Given the description of an element on the screen output the (x, y) to click on. 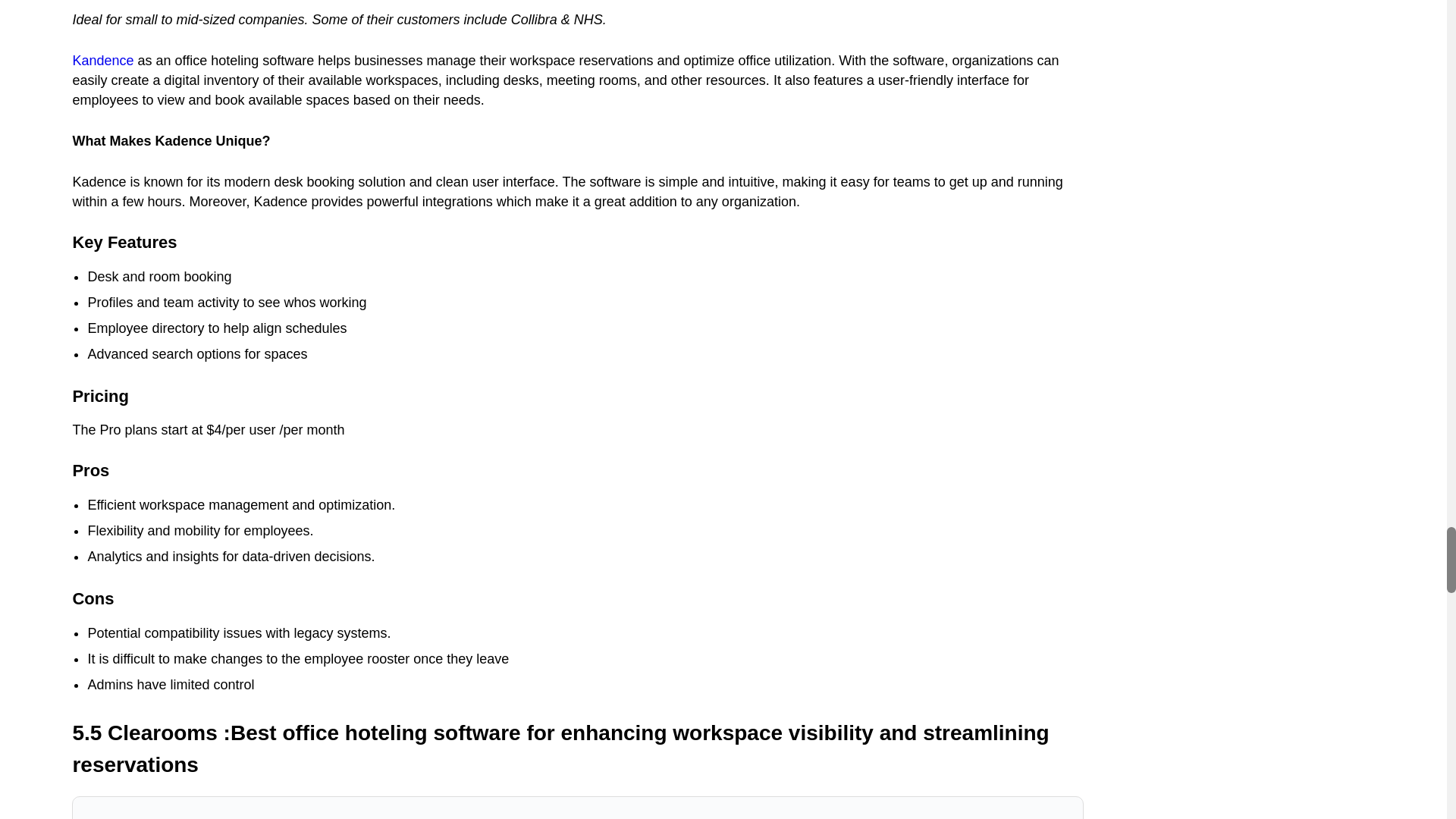
Kandence (102, 60)
